Given the description of an element on the screen output the (x, y) to click on. 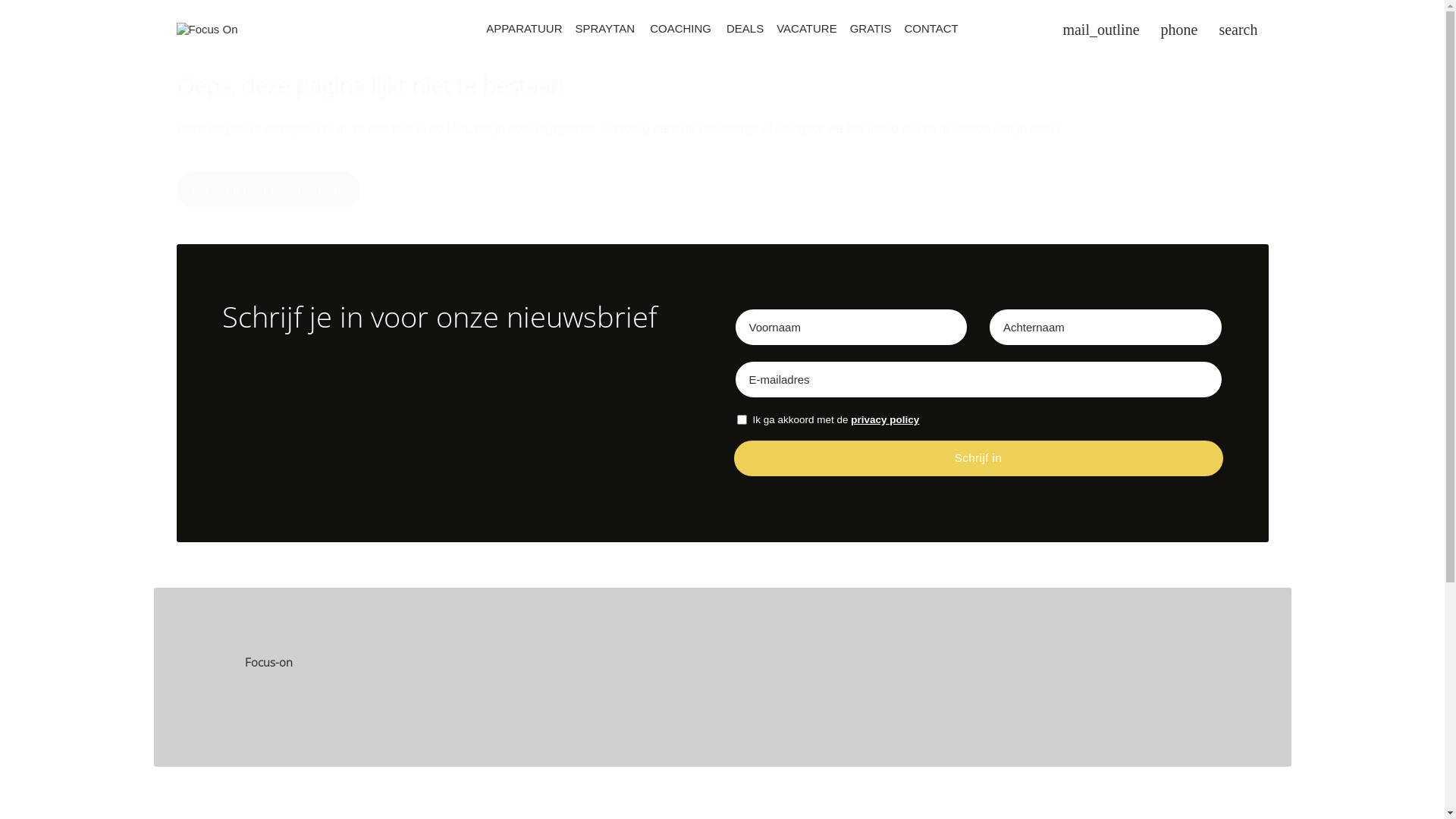
VACATURE Element type: text (806, 27)
privacy policy Element type: text (884, 419)
SPRAYTAN Element type: text (604, 27)
search Element type: text (1237, 29)
CONTACT Element type: text (930, 27)
Ga terug naar de homepage Element type: text (267, 189)
GRATIS Element type: text (870, 27)
phone Element type: text (1179, 29)
Schrijf je in voor onze nieuwsbrief Element type: text (465, 331)
Focus On Element type: hover (206, 28)
APPARATUUR Element type: text (524, 27)
DEALS Element type: text (745, 27)
mail_outline Element type: text (1100, 29)
